Given the description of an element on the screen output the (x, y) to click on. 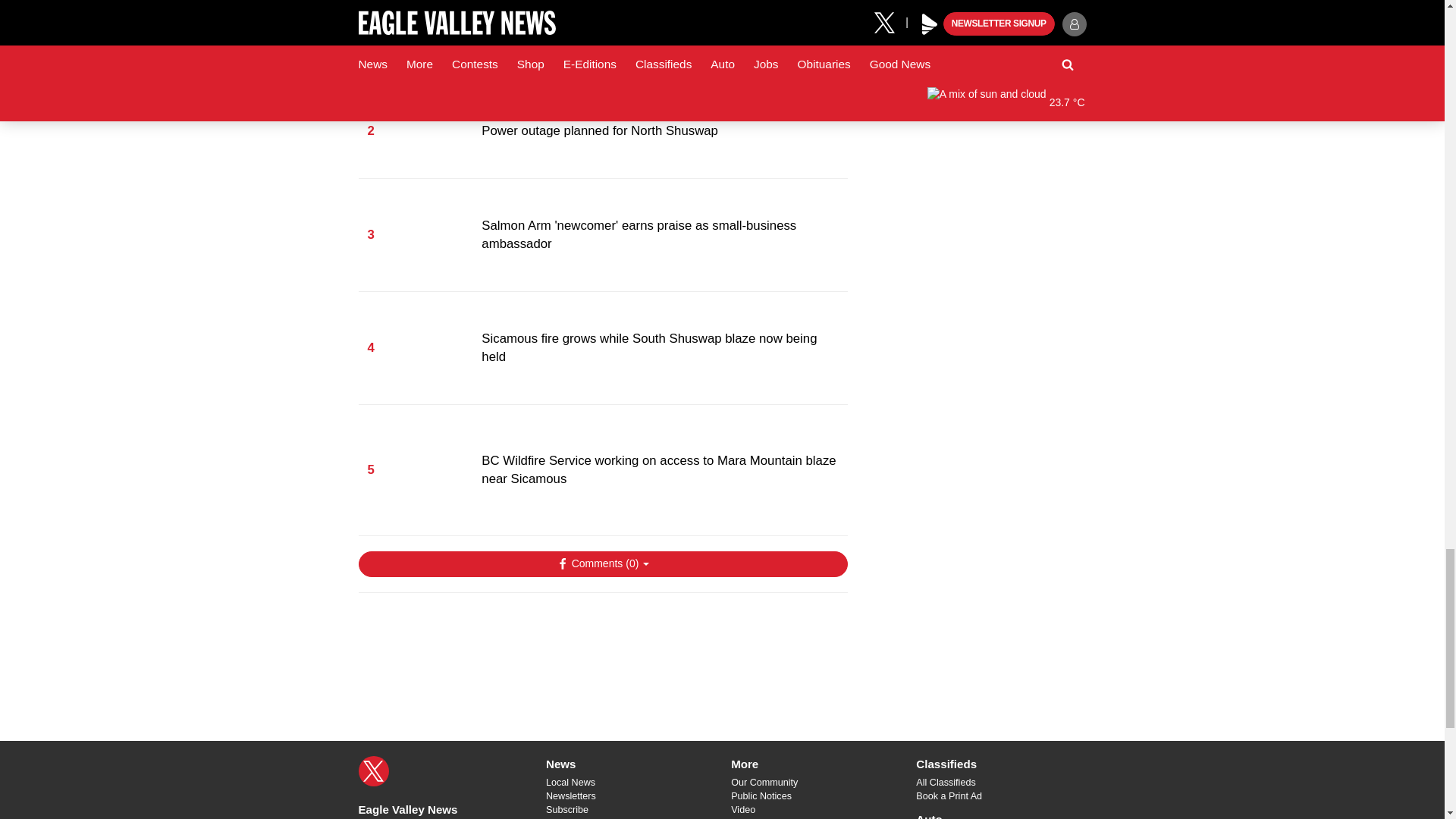
X (373, 770)
Show Comments (602, 564)
